Given the description of an element on the screen output the (x, y) to click on. 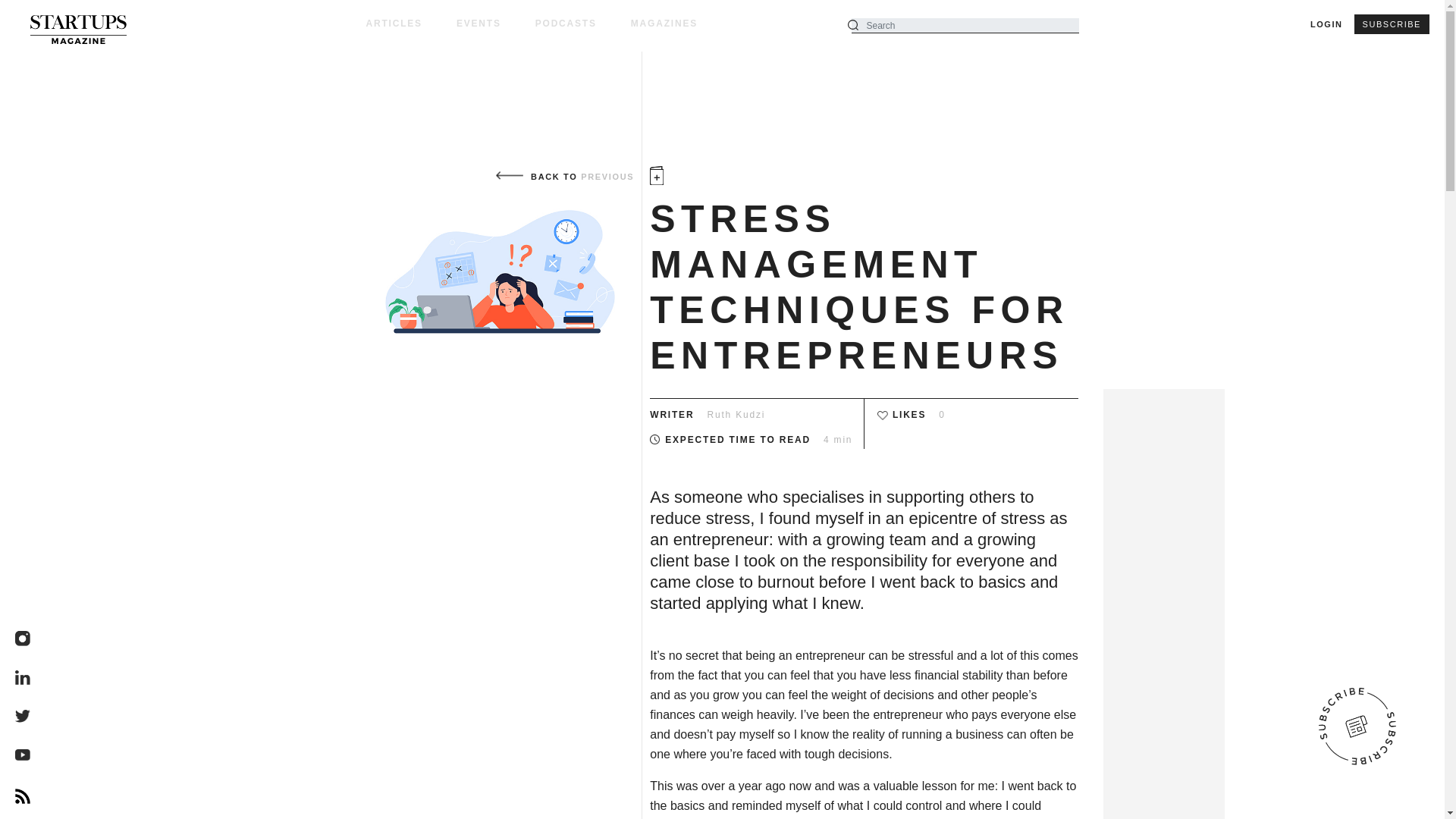
Twitter (22, 717)
Apply (24, 14)
LOGIN (1326, 24)
LIKES (909, 414)
Magazines (663, 23)
LinkedIn (22, 677)
Events (496, 23)
RSS Feed (22, 795)
Articles (410, 23)
PODCASTS (582, 23)
BACK TO PREVIOUS (563, 175)
SUBSCRIBE (1391, 24)
ARTICLES (410, 23)
Youtube (22, 756)
Skip to main content (721, 52)
